Given the description of an element on the screen output the (x, y) to click on. 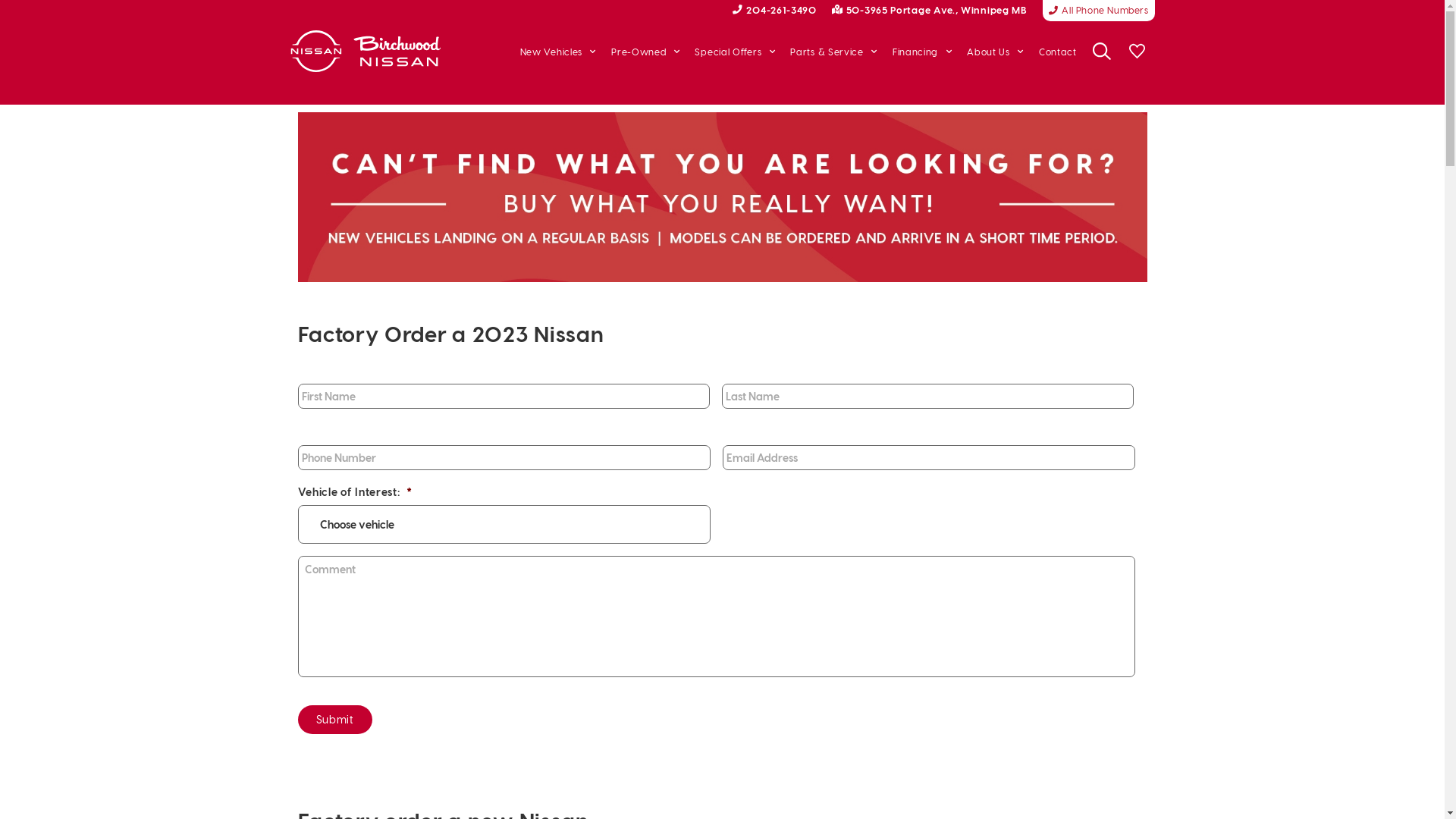
204-261-3490 Element type: text (774, 9)
All Phone Numbers Element type: text (1098, 10)
50-3965 Portage Ave. Winnipeg MB Element type: text (929, 9)
Contact Element type: text (1057, 51)
Pre-Owned Element type: text (645, 51)
Financing Element type: text (921, 51)
New Vehicles Element type: text (557, 51)
About Us Element type: text (995, 51)
Special Offers Element type: text (734, 51)
My Vehicles Element type: text (1136, 51)
Submit Element type: text (334, 719)
Parts & Service Element type: text (833, 51)
